Given the description of an element on the screen output the (x, y) to click on. 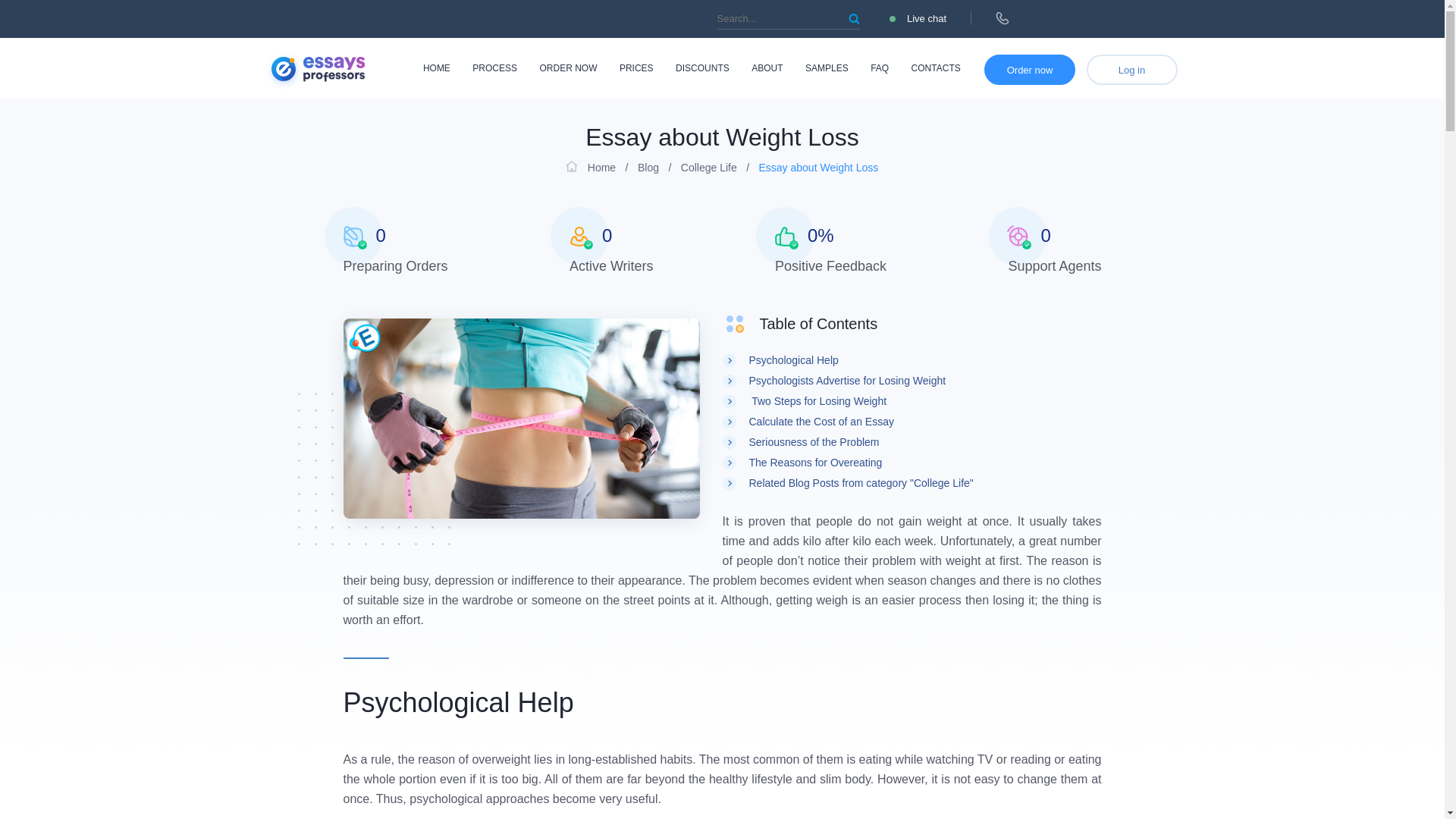
DISCOUNTS (702, 68)
PRICES (636, 68)
  Home (590, 167)
Essay about Weight Loss (520, 418)
ABOUT (767, 68)
ORDER NOW (567, 68)
Related Blog Posts from category "College Life" (861, 482)
Psychological Help (793, 359)
Order now (1029, 69)
SAMPLES (826, 68)
